Given the description of an element on the screen output the (x, y) to click on. 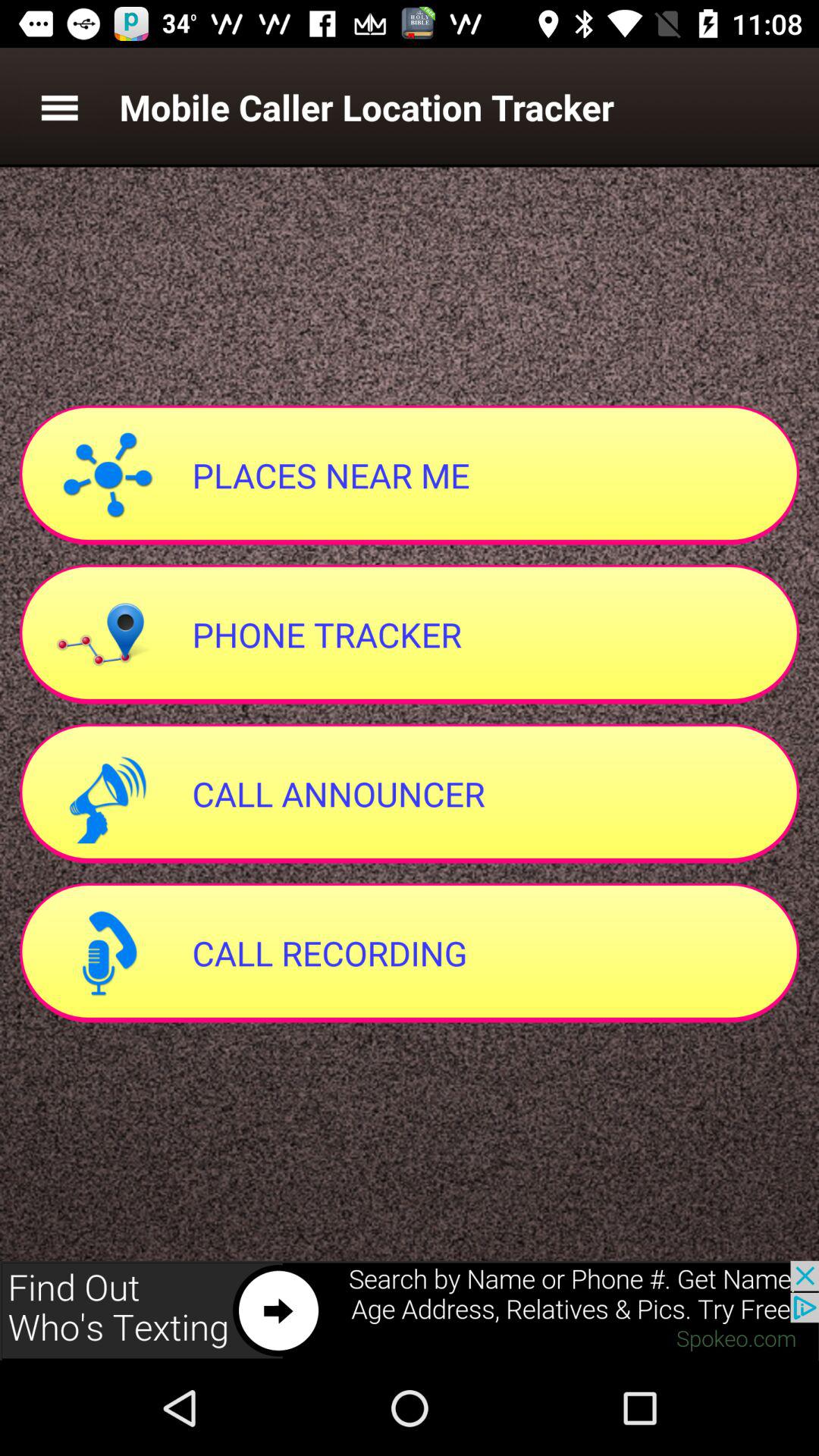
more options (59, 107)
